Given the description of an element on the screen output the (x, y) to click on. 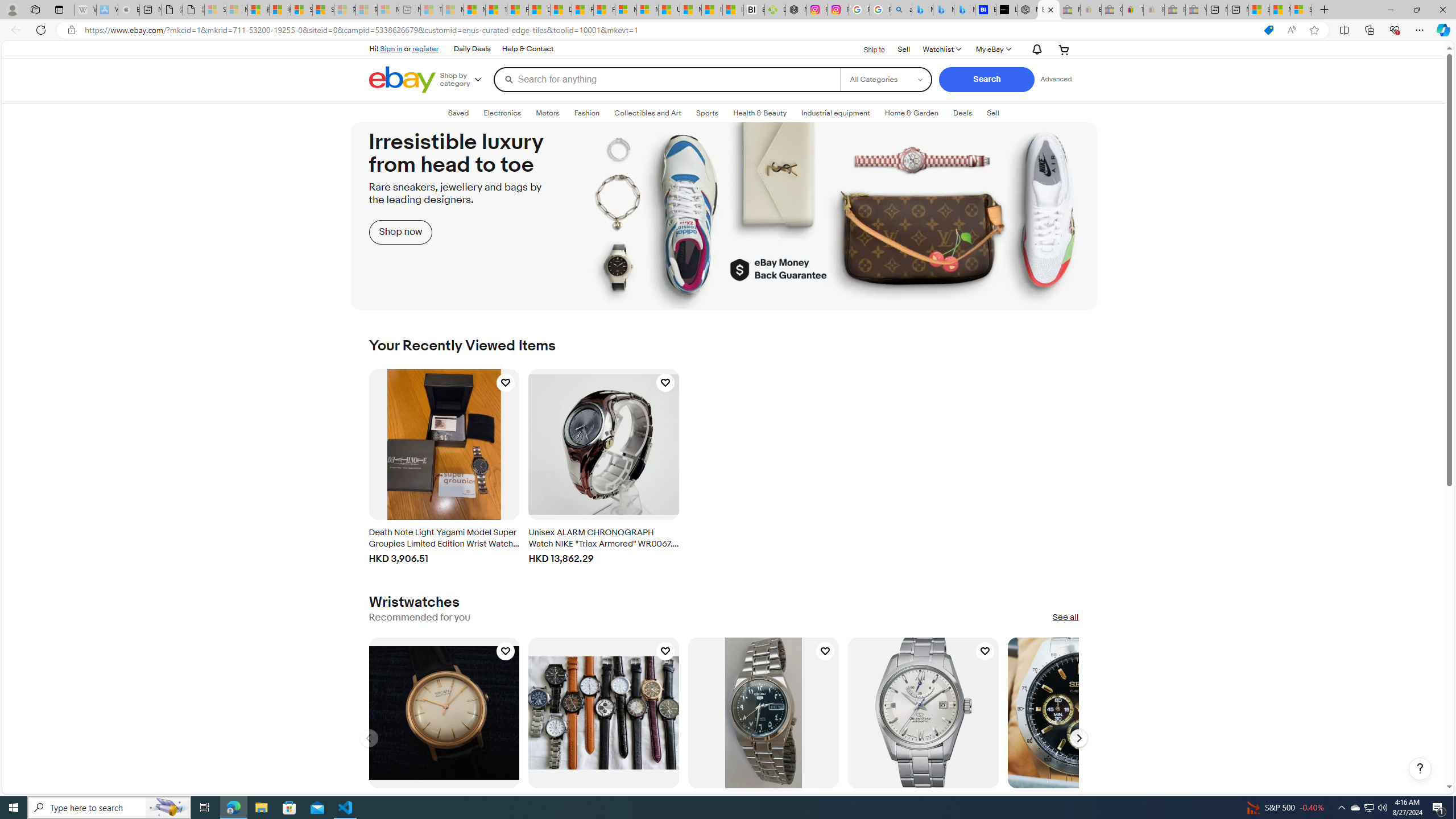
Help & Contact (527, 49)
Deals (962, 112)
This site has coupons! Shopping in Microsoft Edge (1268, 29)
Foo BAR | Trusted Community Engagement and Contributions (604, 9)
Health & Beauty (760, 112)
